Given the description of an element on the screen output the (x, y) to click on. 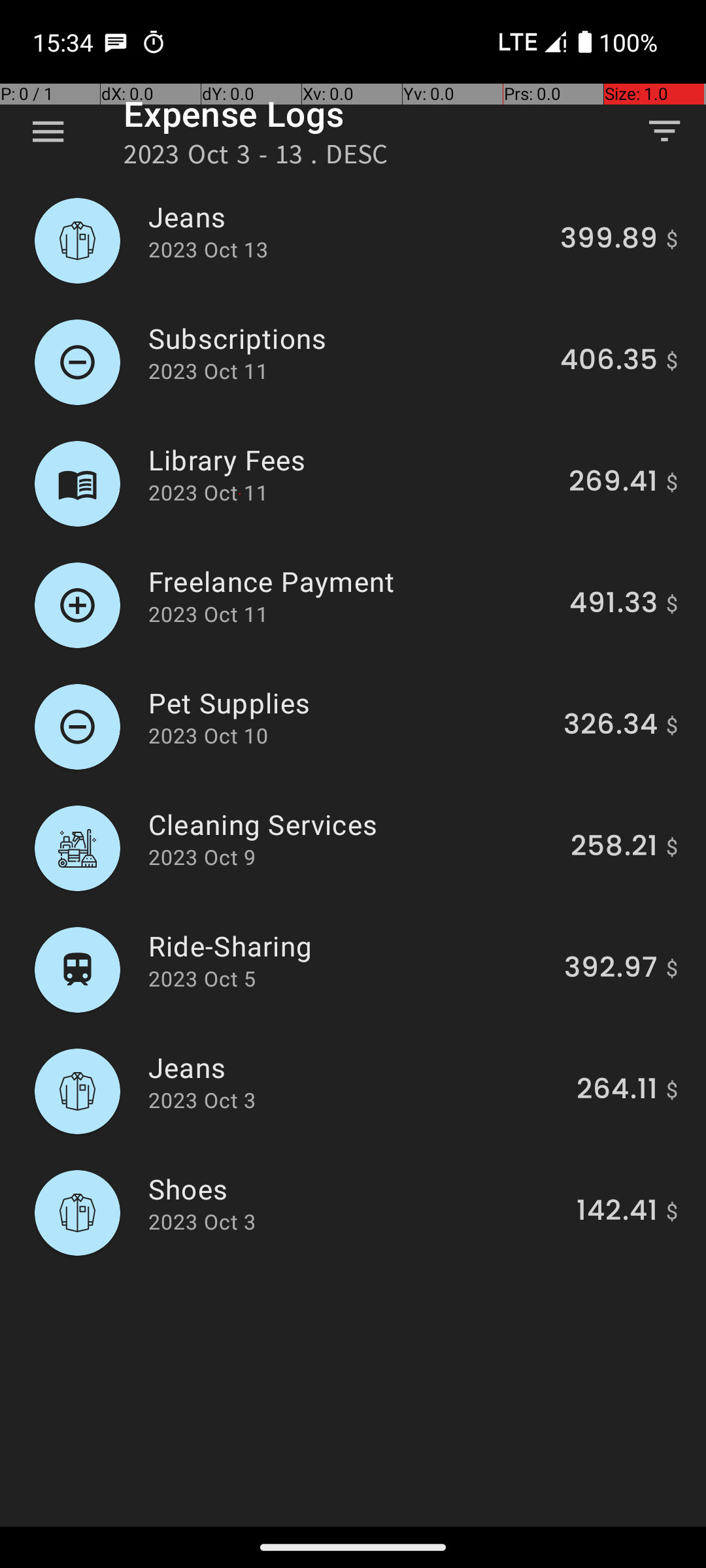
2023 Oct 3 - 13 . DESC Element type: android.widget.TextView (255, 157)
Filter Element type: android.widget.TextView (664, 131)
Jeans Element type: android.widget.TextView (346, 216)
399.89 Element type: android.widget.TextView (608, 240)
$ Element type: android.widget.TextView (671, 240)
406.35 Element type: android.widget.TextView (608, 362)
Library Fees Element type: android.widget.TextView (350, 459)
269.41 Element type: android.widget.TextView (613, 483)
491.33 Element type: android.widget.TextView (613, 605)
Pet Supplies Element type: android.widget.TextView (348, 702)
326.34 Element type: android.widget.TextView (610, 726)
Cleaning Services Element type: android.widget.TextView (351, 823)
258.21 Element type: android.widget.TextView (614, 848)
Ride-Sharing Element type: android.widget.TextView (348, 945)
2023 Oct 5 Element type: android.widget.TextView (201, 978)
392.97 Element type: android.widget.TextView (610, 969)
2023 Oct 3 Element type: android.widget.TextView (201, 1099)
264.11 Element type: android.widget.TextView (616, 1091)
Shoes Element type: android.widget.TextView (354, 1188)
142.41 Element type: android.widget.TextView (616, 1212)
SMS Messenger notification: +15785288010 Element type: android.widget.ImageView (115, 41)
